Given the description of an element on the screen output the (x, y) to click on. 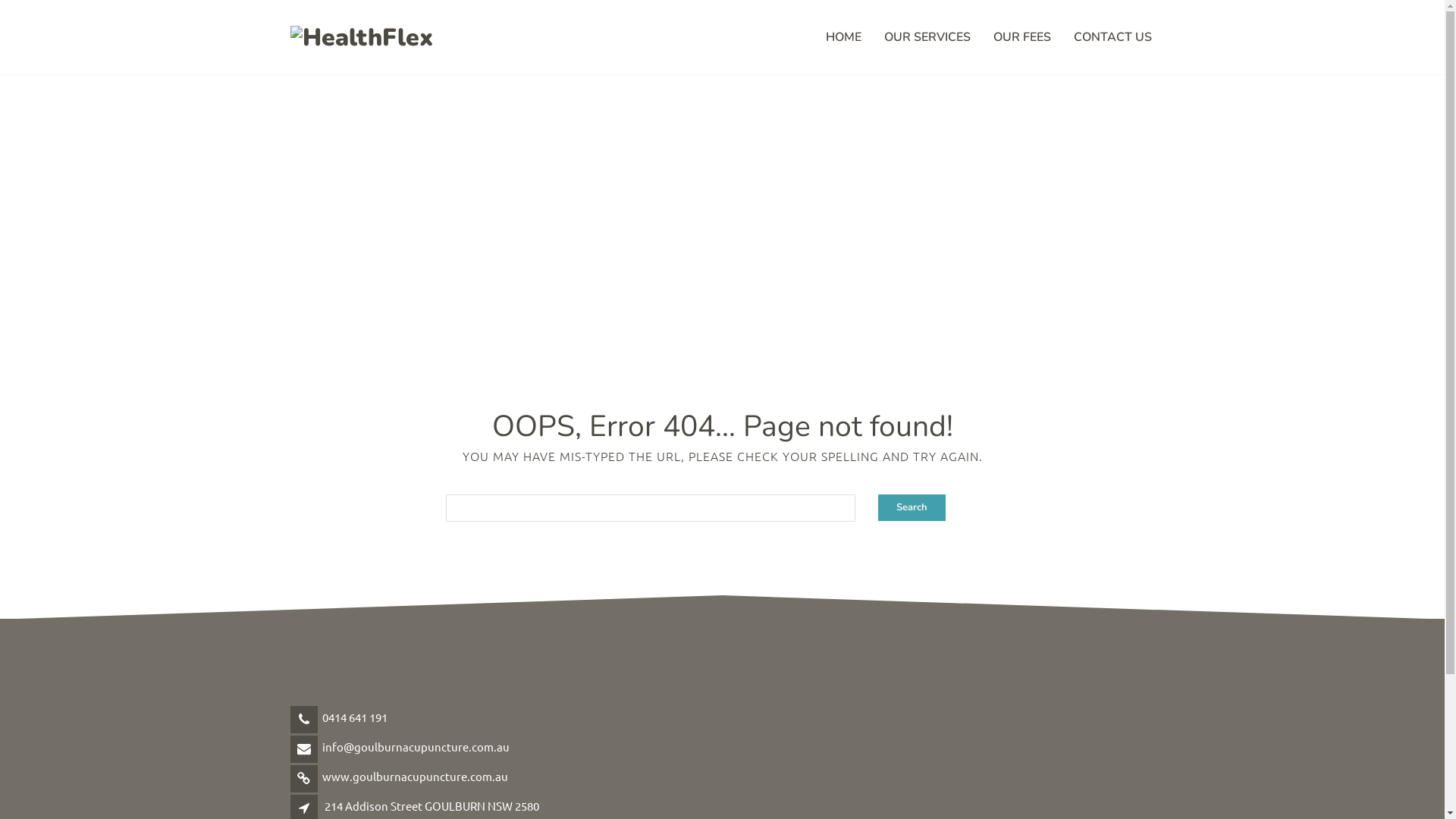
CONTACT US Element type: text (1111, 36)
OUR FEES Element type: text (1021, 36)
OUR SERVICES Element type: text (926, 36)
www.goulburnacupuncture.com.au Element type: text (414, 775)
HOME Element type: text (843, 36)
Search Element type: text (911, 507)
info@goulburnacupuncture.com.au Element type: text (414, 746)
